Given the description of an element on the screen output the (x, y) to click on. 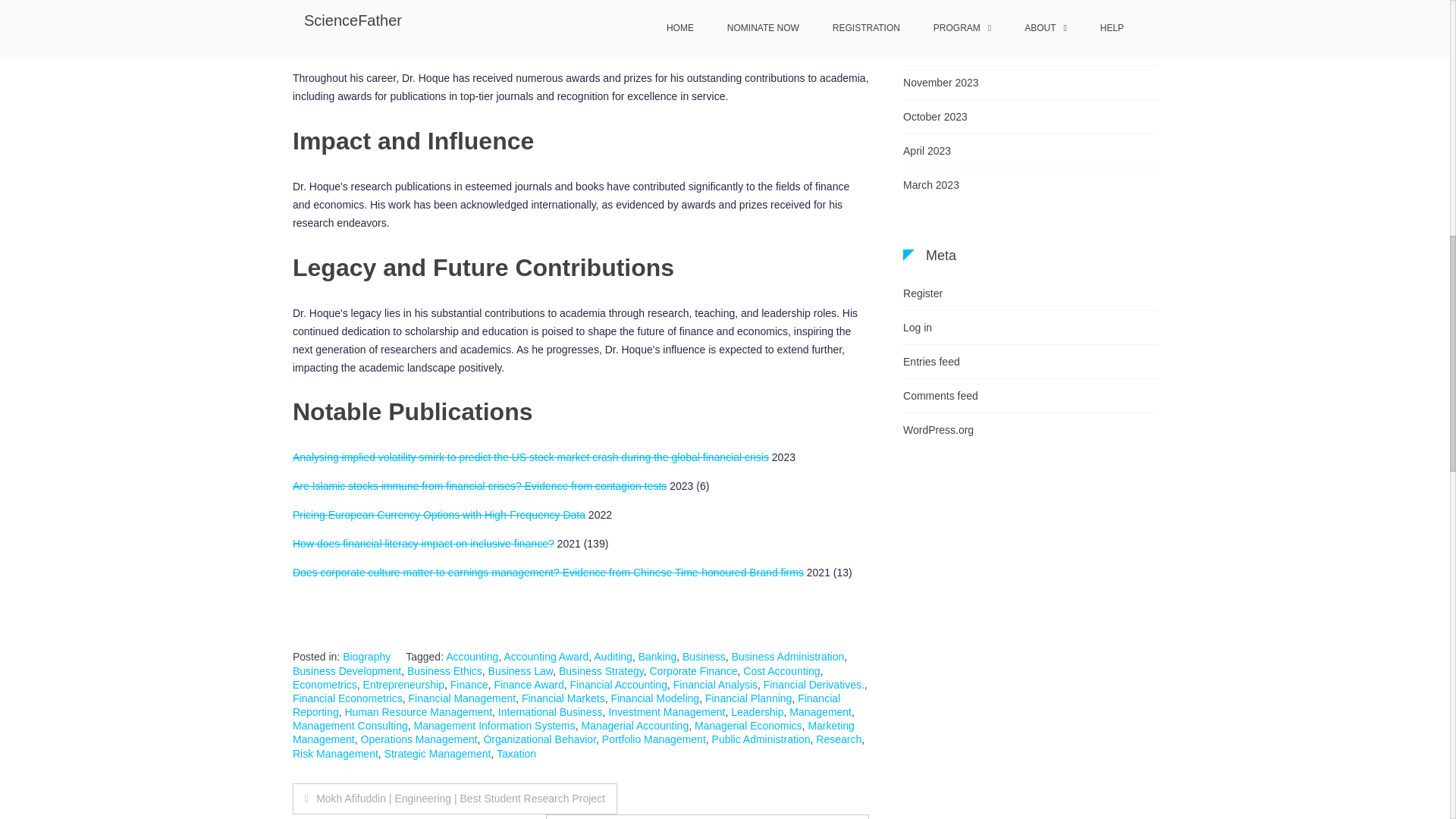
ScienceFather on X Twitter (531, 561)
Login (997, 711)
Submit (836, 816)
1 (963, 672)
